Given the description of an element on the screen output the (x, y) to click on. 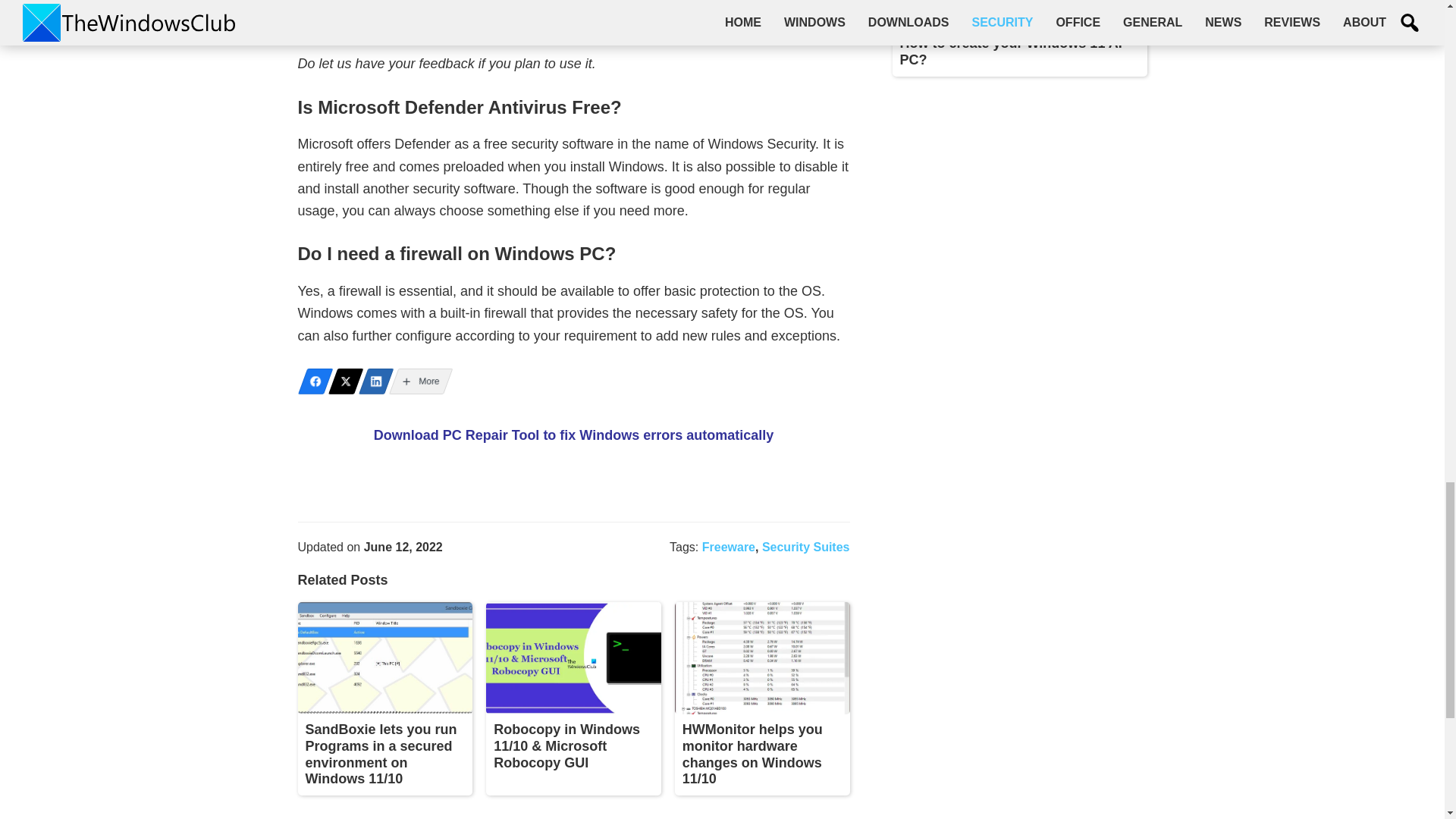
Freeware (728, 546)
Security Suites (805, 546)
More (415, 380)
home page (507, 3)
Download PC Repair Tool to fix Windows errors automatically (574, 435)
